Given the description of an element on the screen output the (x, y) to click on. 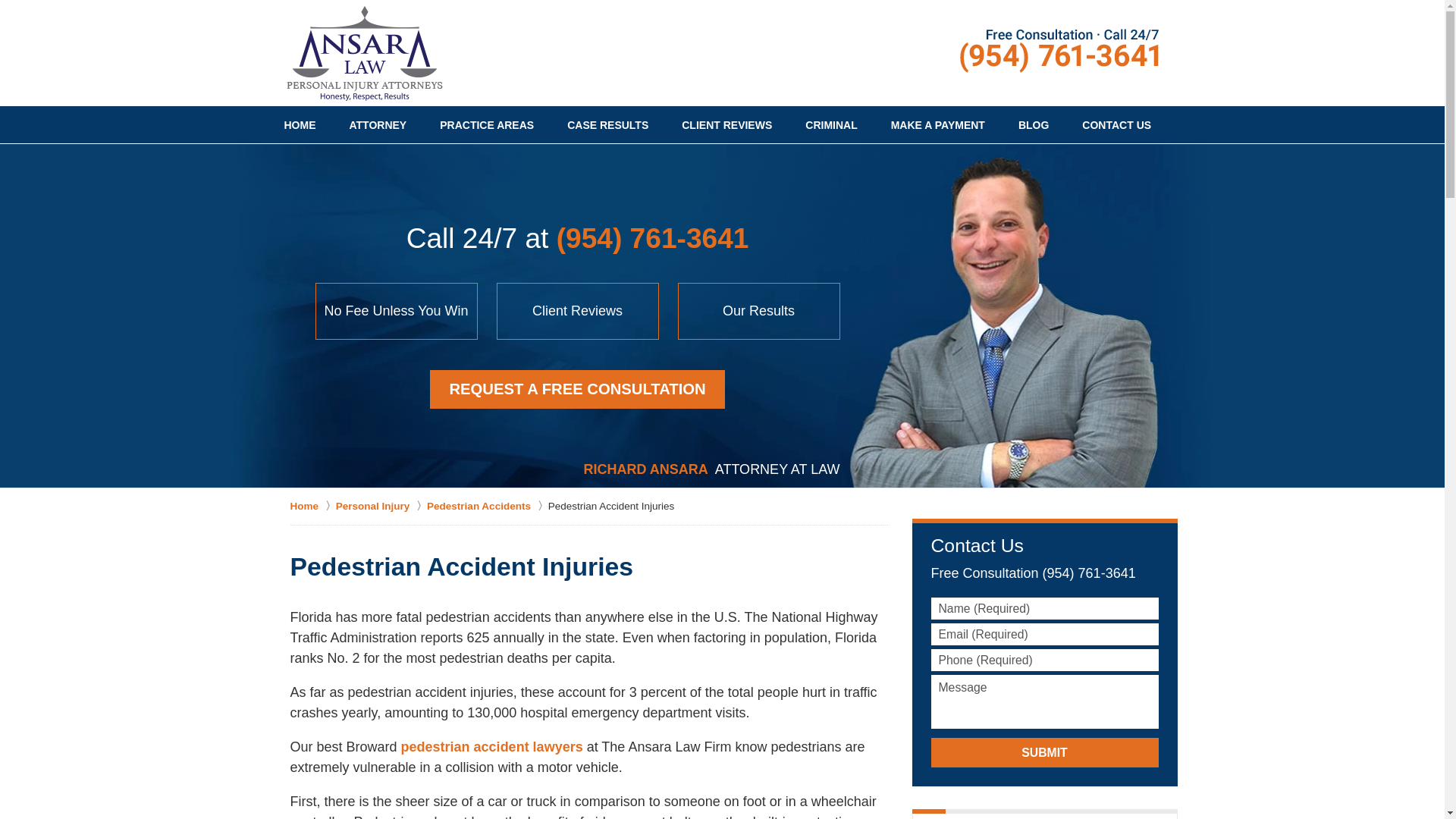
HOME (298, 125)
No Fee Unless You Win (396, 310)
SUBMIT (1044, 752)
REQUEST A FREE CONSULTATION (577, 389)
RICHARD ANSARA (645, 468)
Client Reviews (577, 310)
CRIMINAL (831, 125)
Our Results (759, 310)
MAKE A PAYMENT (938, 125)
